Given the description of an element on the screen output the (x, y) to click on. 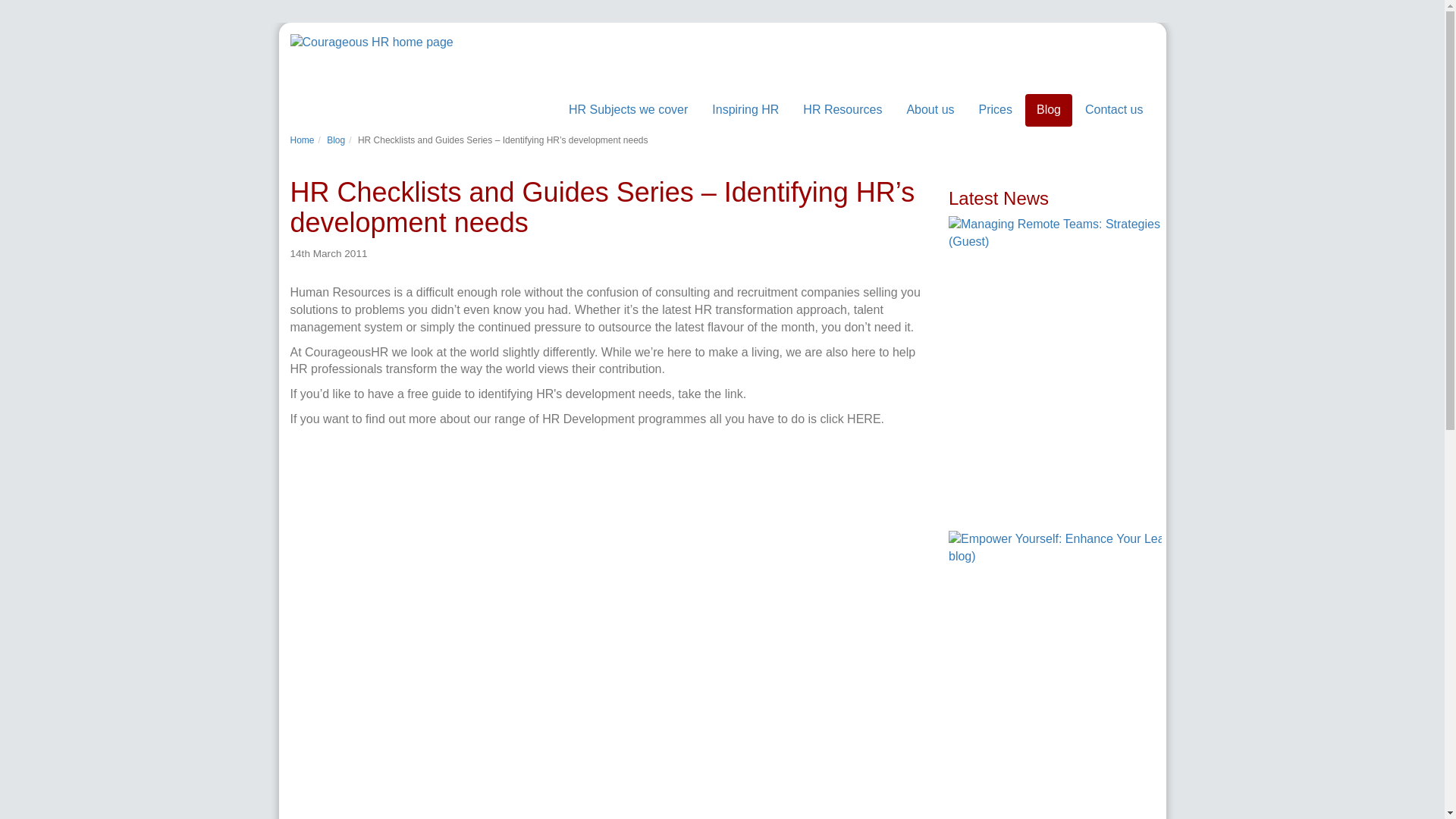
HR Resources (842, 110)
Blog (1048, 114)
Contact us (1114, 110)
HR Subjects we cover (627, 114)
HR Subjects we cover (627, 110)
Prices (995, 110)
Prices (995, 114)
Inspiring HR (745, 110)
HR Resources (842, 114)
Blog (335, 140)
About us (930, 110)
Blog (1048, 110)
Inspiring HR (745, 114)
Home (301, 140)
Contact us (1114, 114)
